Given the description of an element on the screen output the (x, y) to click on. 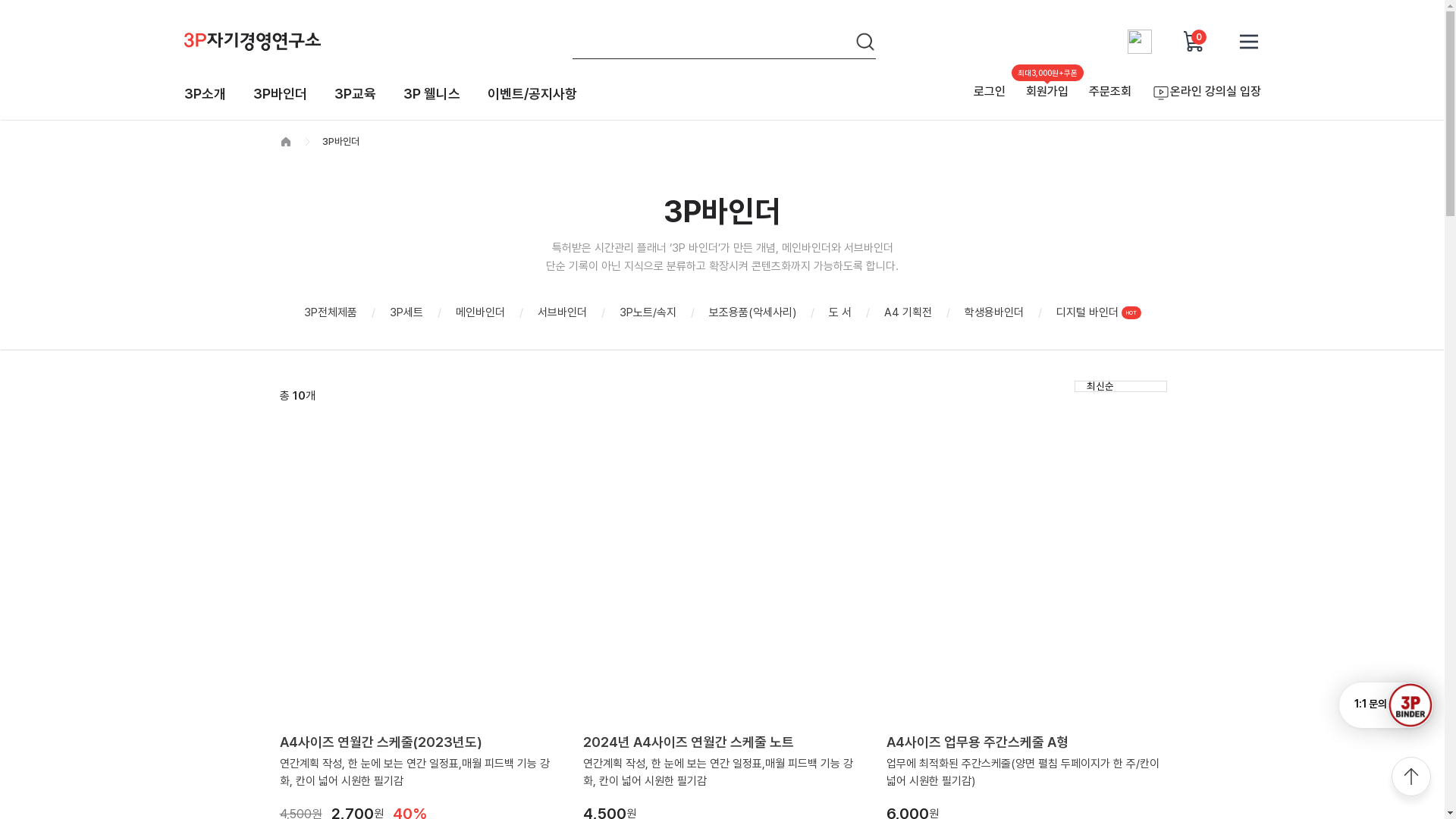
0 Element type: text (1193, 41)
